Given the description of an element on the screen output the (x, y) to click on. 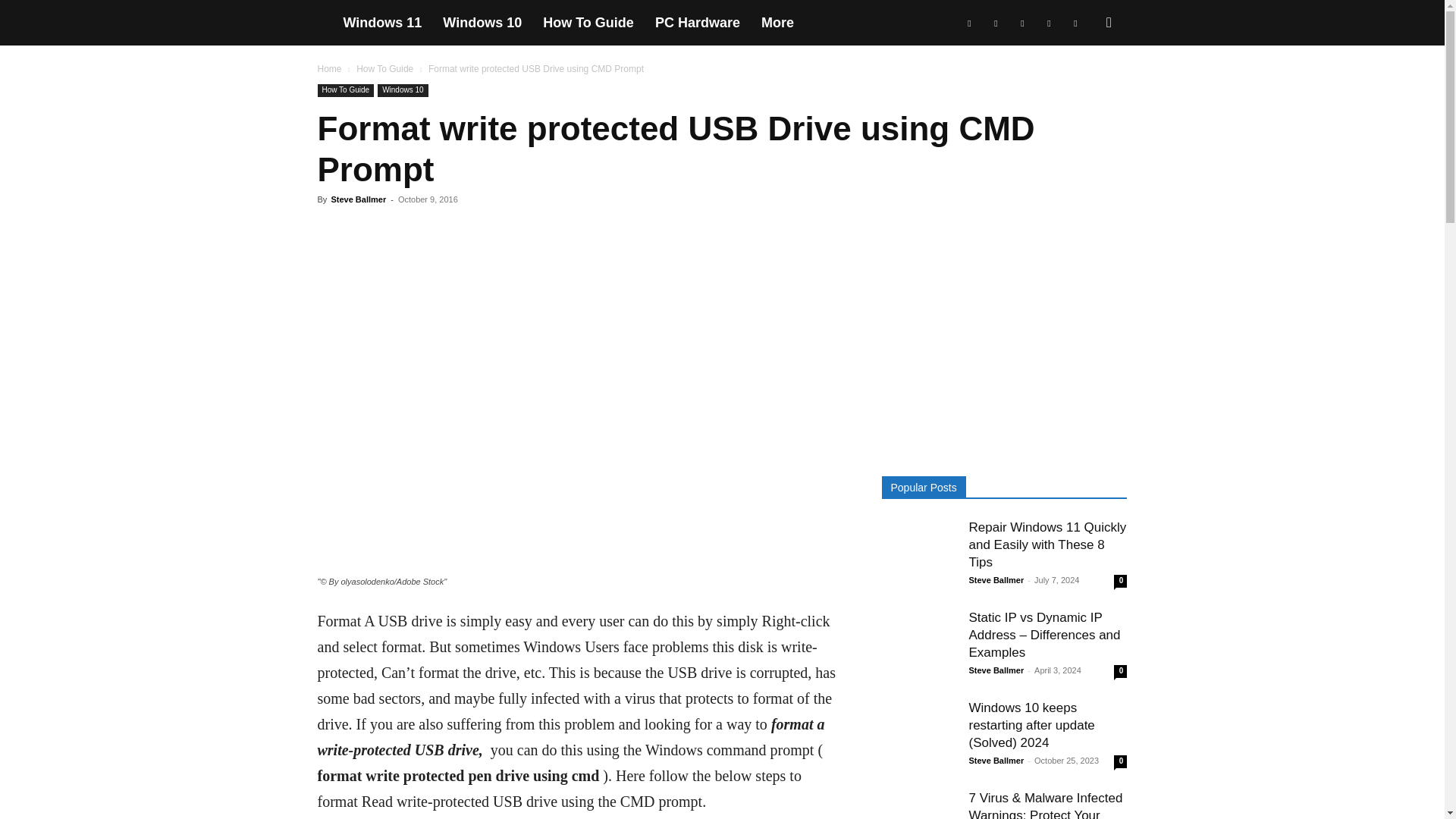
How To Guide (588, 22)
Steve Ballmer (357, 198)
PC Hardware (698, 22)
Windows 11 (381, 22)
How To Guide (384, 68)
View all posts in How To Guide (384, 68)
Windows 10 (482, 22)
More (778, 22)
How To Guide (345, 90)
Windows 10 (402, 90)
